Given the description of an element on the screen output the (x, y) to click on. 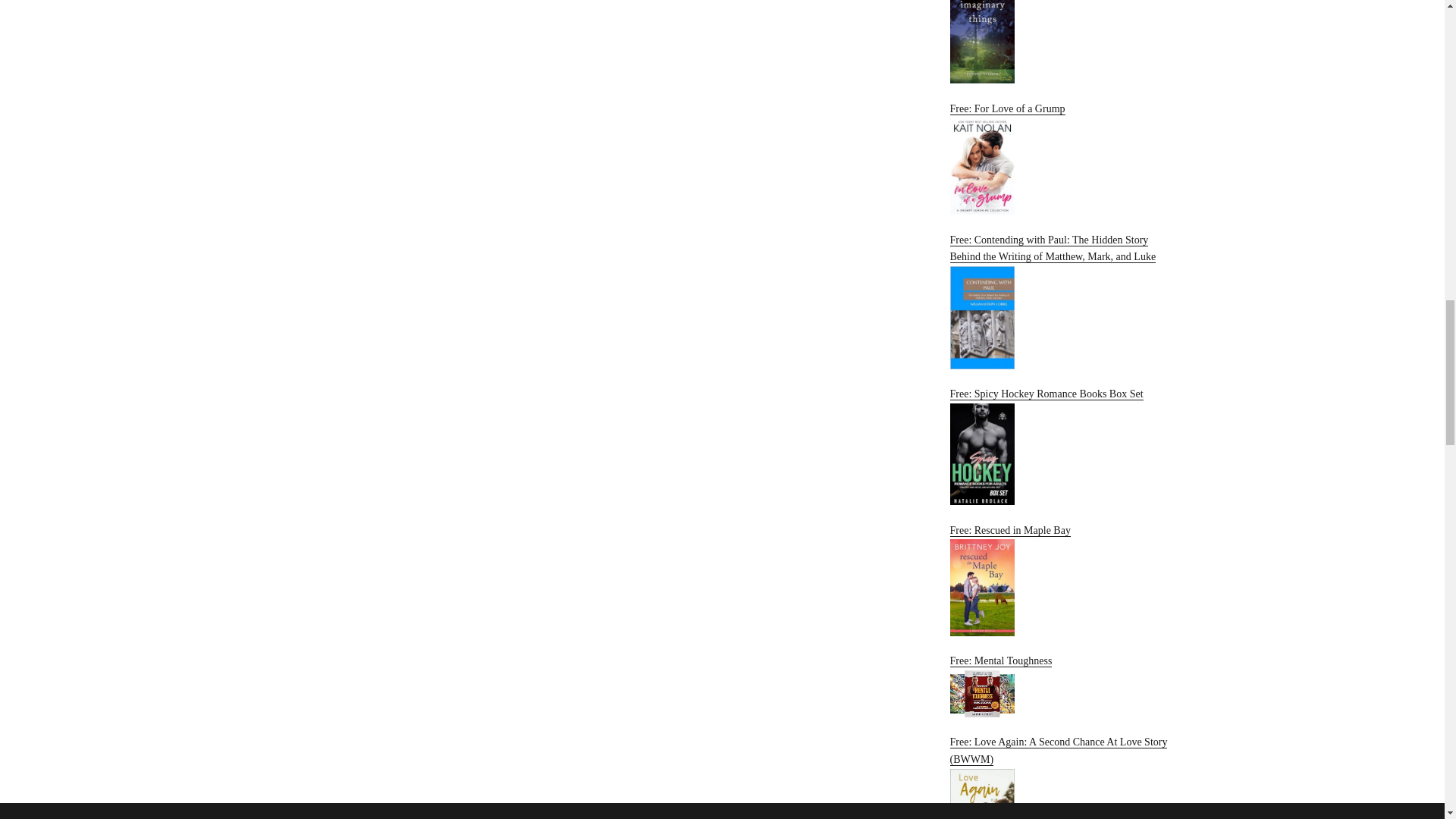
Free: Imaginary Things (1062, 41)
Free: For Love of a Grump (1062, 158)
Free: Rescued in Maple Bay (1062, 580)
Free: Spicy Hockey Romance Books Box Set (1062, 446)
